Given the description of an element on the screen output the (x, y) to click on. 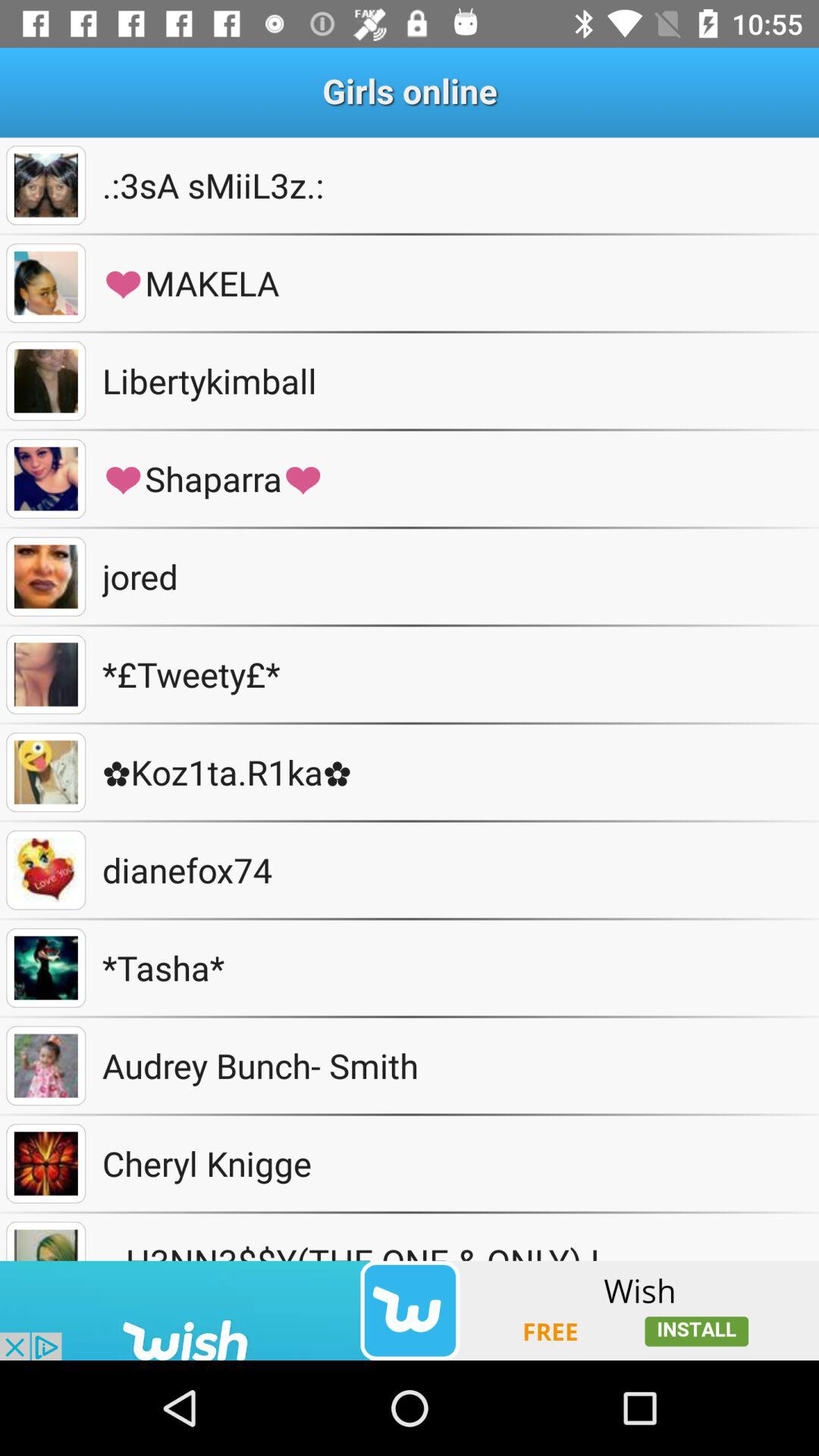
to view add (409, 1310)
